Given the description of an element on the screen output the (x, y) to click on. 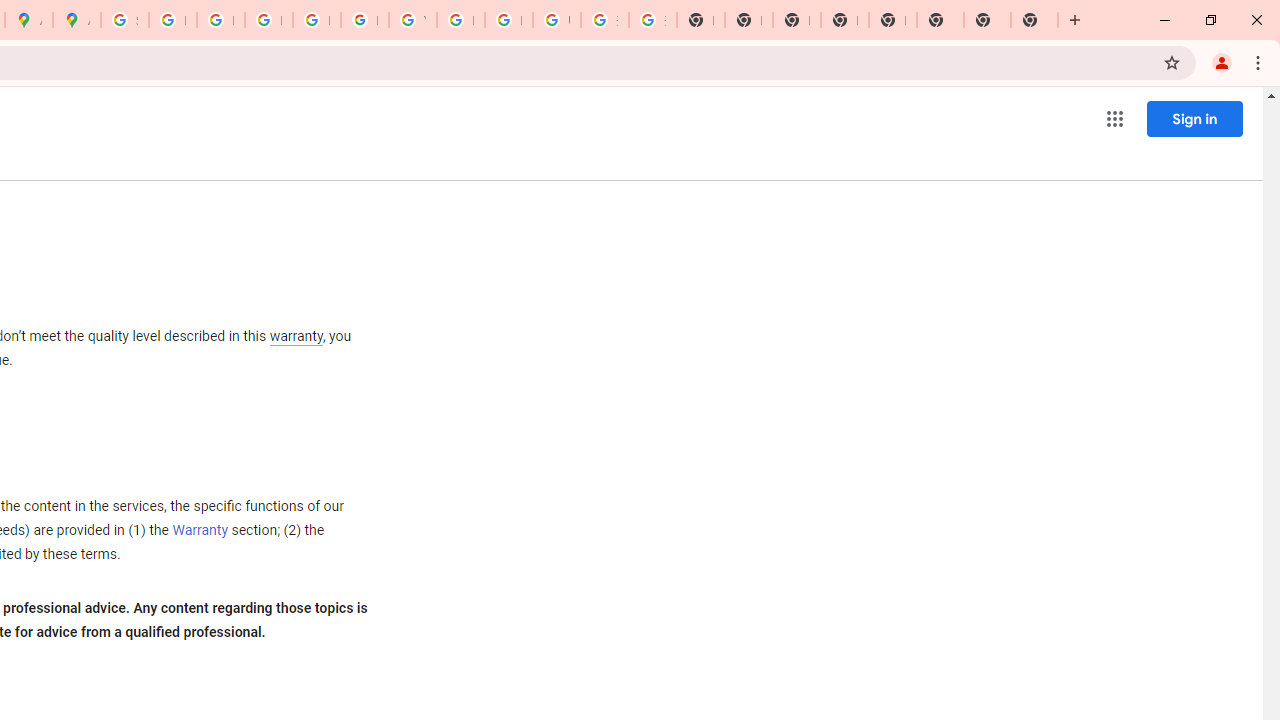
New Tab (987, 20)
Privacy Help Center - Policies Help (220, 20)
New Tab (892, 20)
Privacy Help Center - Policies Help (268, 20)
Browse Chrome as a guest - Computer - Google Chrome Help (460, 20)
New Tab (1034, 20)
